Given the description of an element on the screen output the (x, y) to click on. 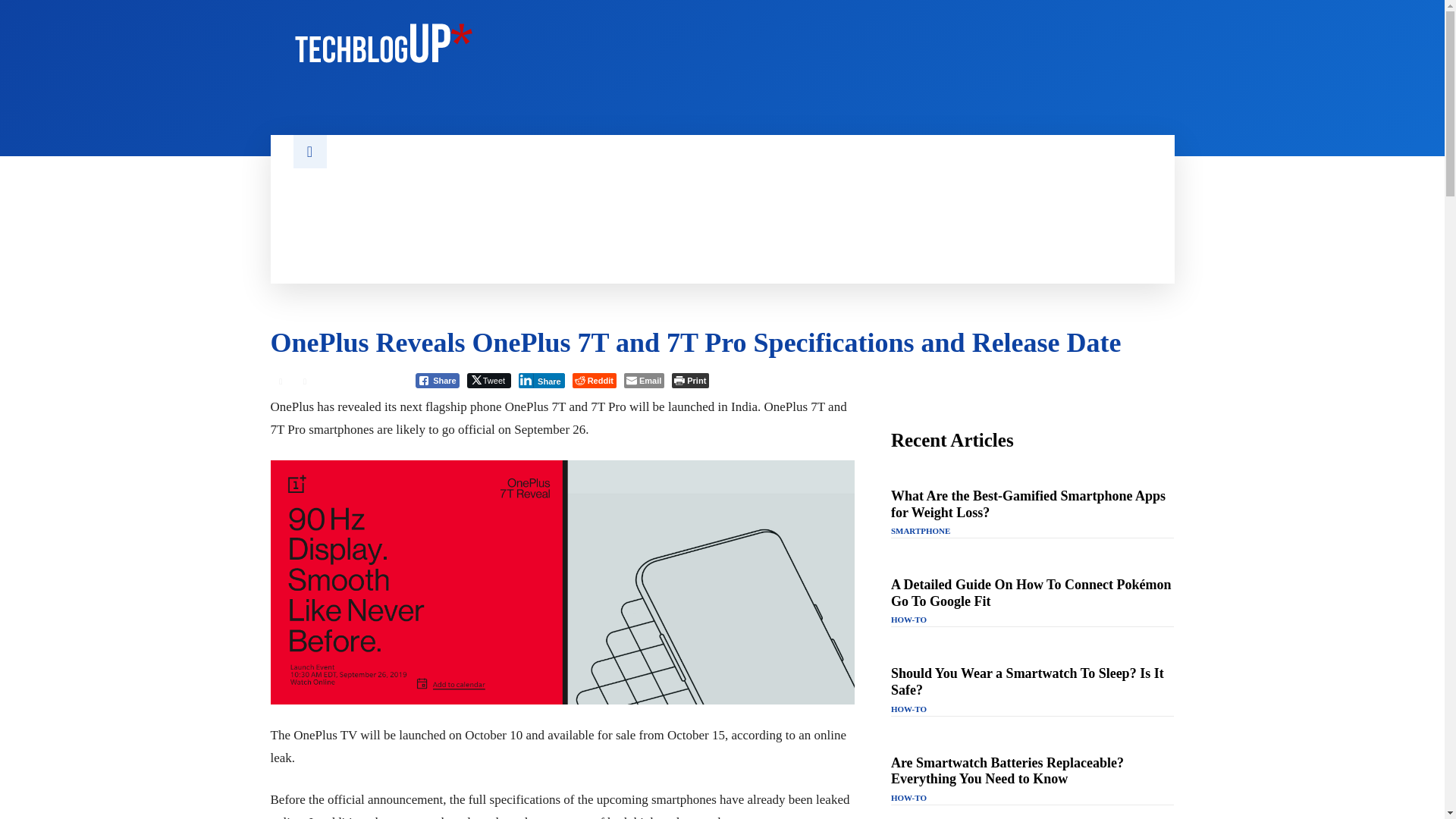
SMARTPHONE (920, 531)
HOW-TO (908, 620)
Should You Wear a Smartwatch To Sleep? Is It Safe? (1027, 681)
Email (643, 380)
Share (437, 380)
Tweet (489, 380)
Share (541, 380)
Print (690, 380)
Reddit (593, 380)
